Given the description of an element on the screen output the (x, y) to click on. 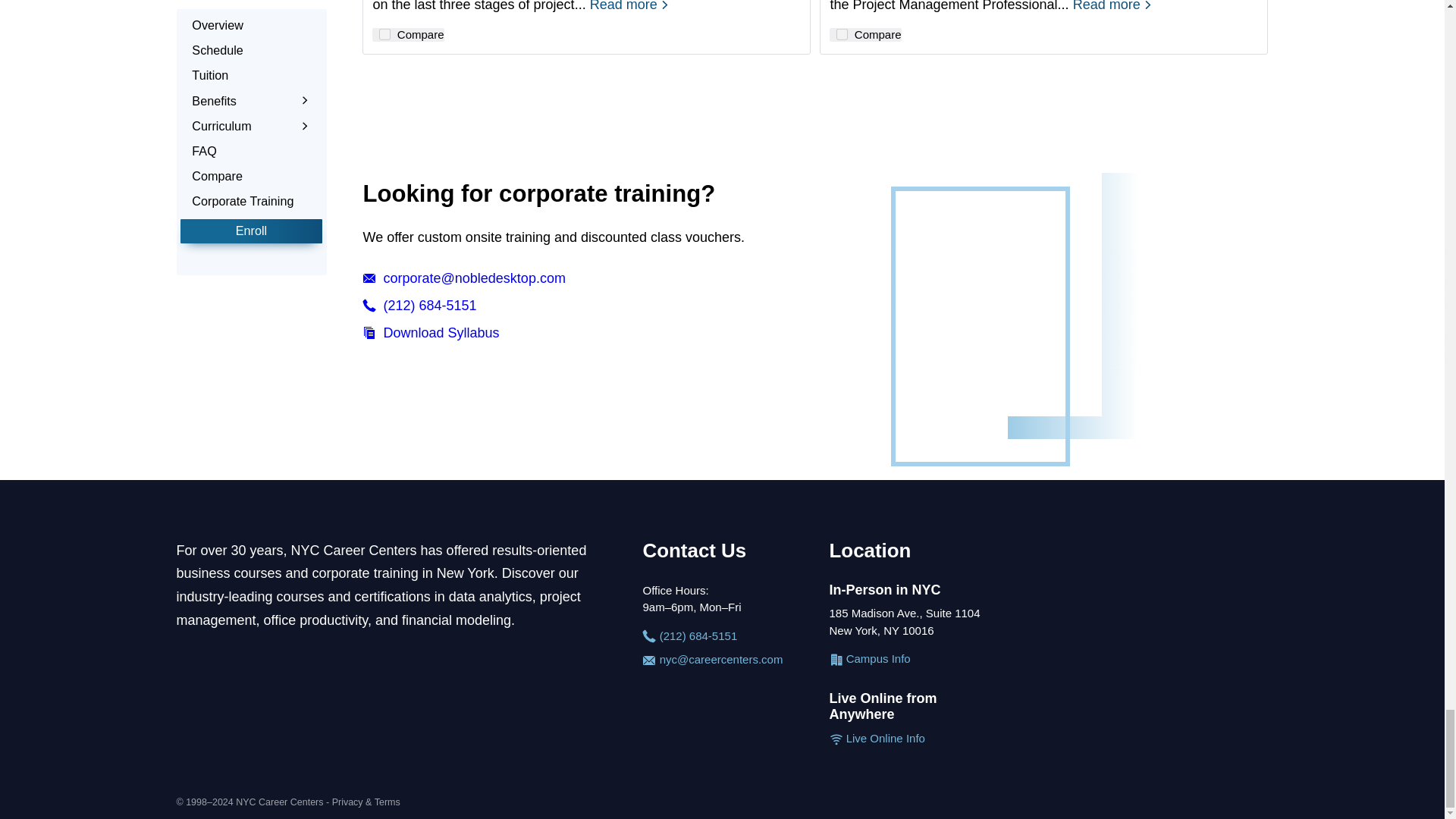
409 (384, 33)
455 (841, 33)
